Given the description of an element on the screen output the (x, y) to click on. 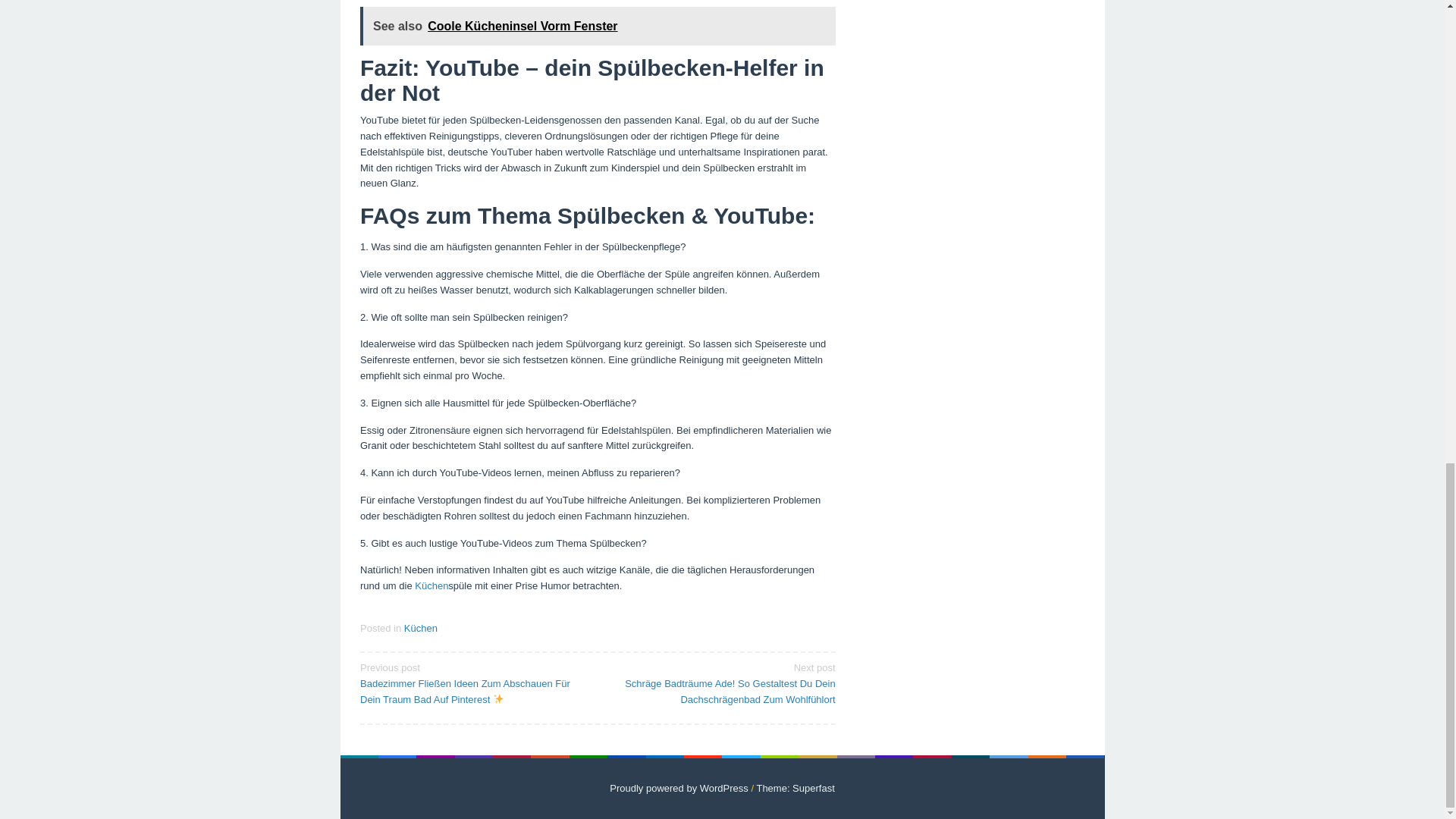
Theme: Superfast (794, 787)
Proudly powered by WordPress (679, 787)
Theme: Superfast (794, 787)
Proudly powered by WordPress (679, 787)
